Given the description of an element on the screen output the (x, y) to click on. 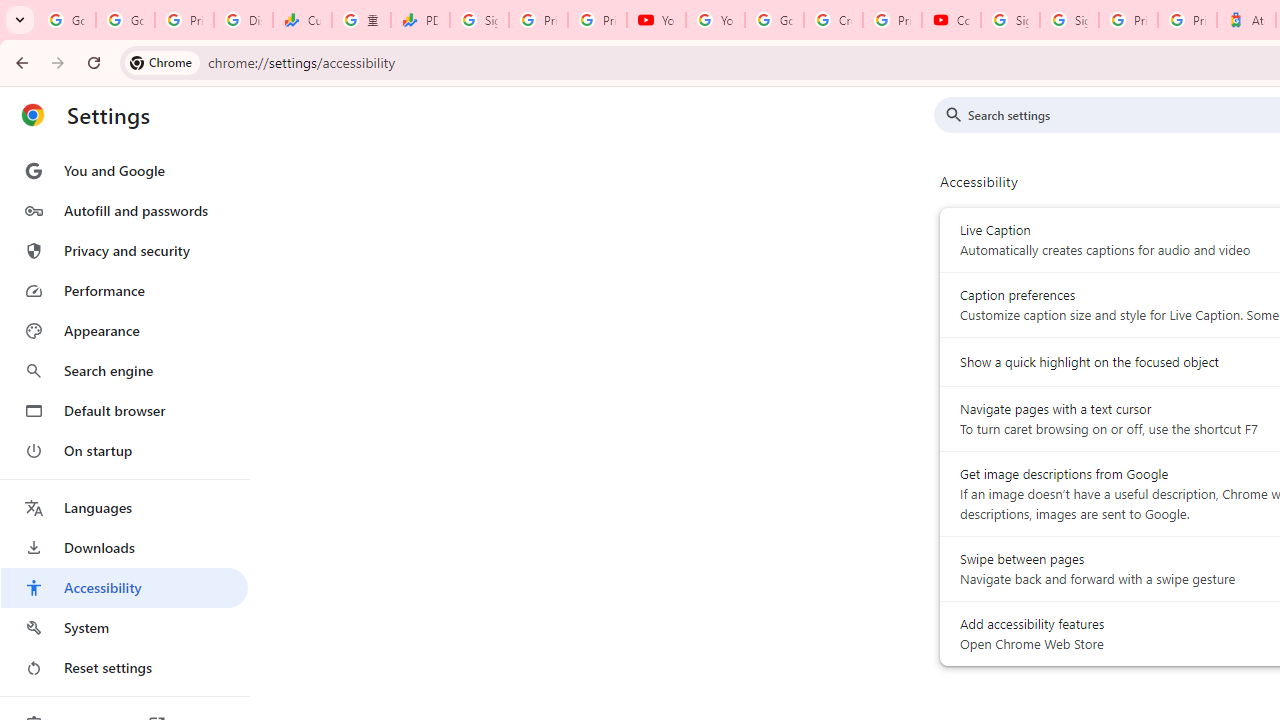
Downloads (124, 547)
PDD Holdings Inc - ADR (PDD) Price & News - Google Finance (420, 20)
Privacy and security (124, 250)
Languages (124, 507)
